Given the description of an element on the screen output the (x, y) to click on. 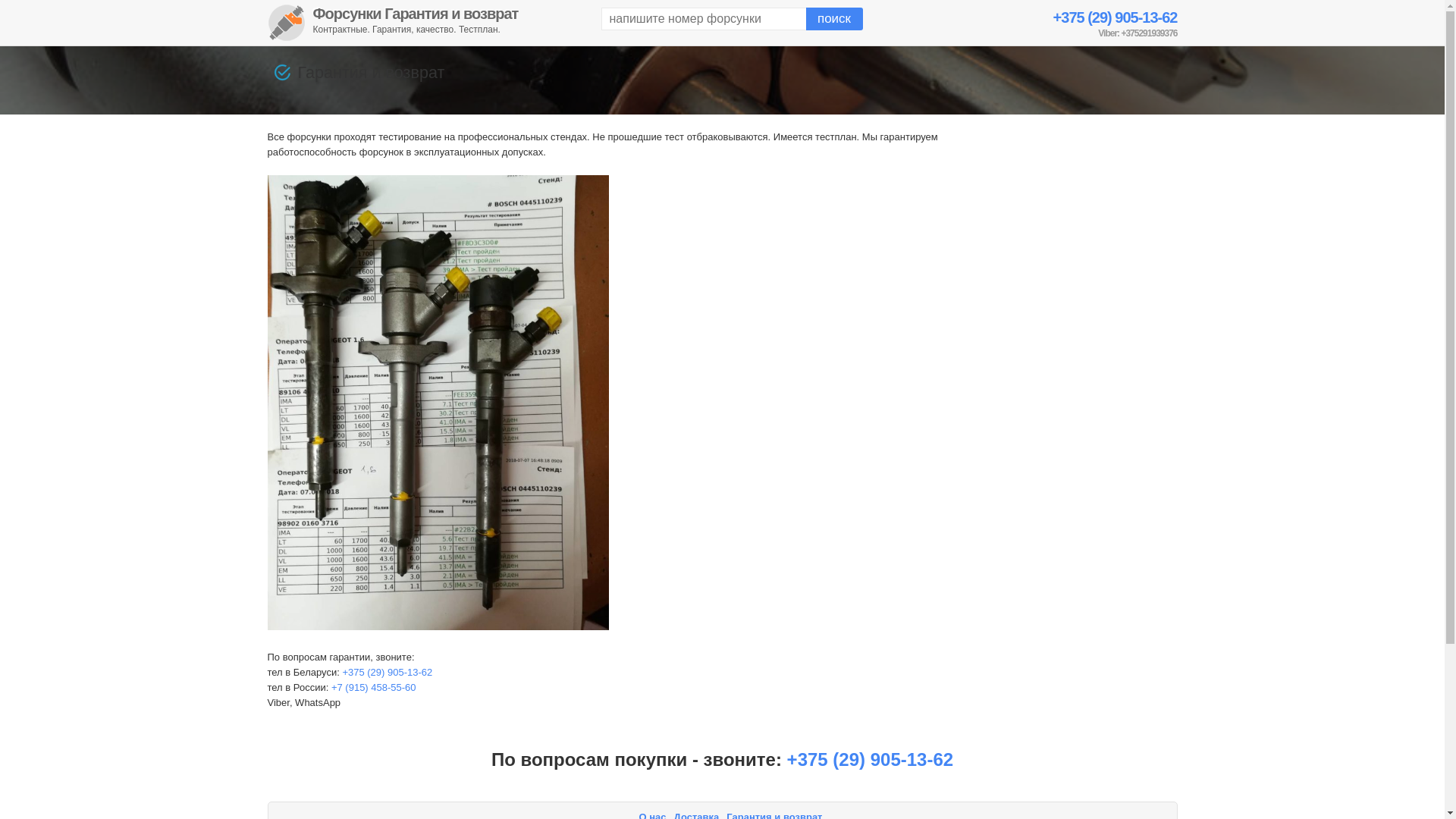
+375 (29) 905-13-62 Element type: text (870, 759)
+375 (29) 905-13-62 Element type: text (1115, 17)
Viber: +375291939376 Element type: text (1137, 33)
+7 (915) 458-55-60 Element type: text (373, 687)
+375 (29) 905-13-62 Element type: text (387, 671)
